Given the description of an element on the screen output the (x, y) to click on. 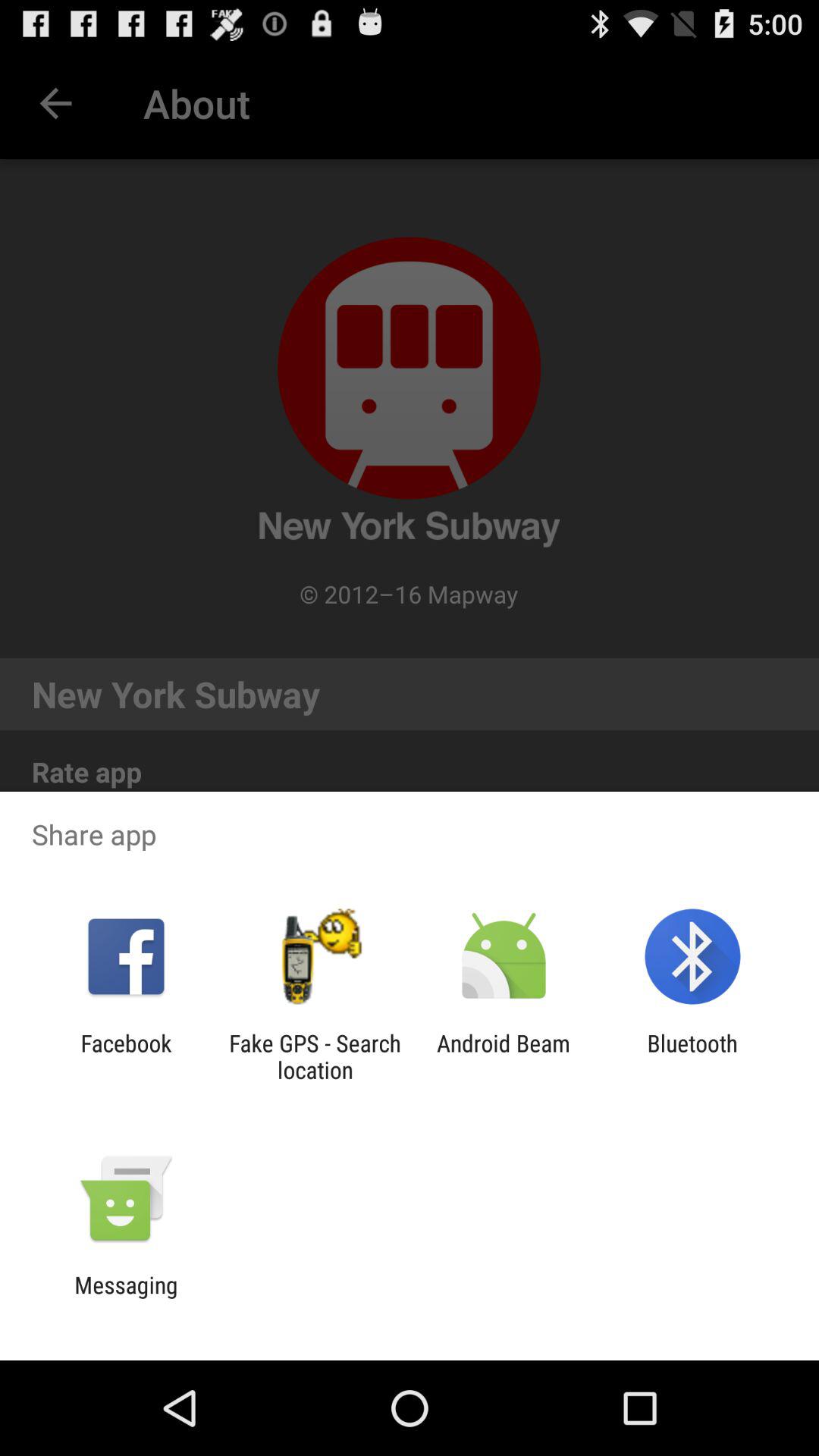
click facebook item (125, 1056)
